Given the description of an element on the screen output the (x, y) to click on. 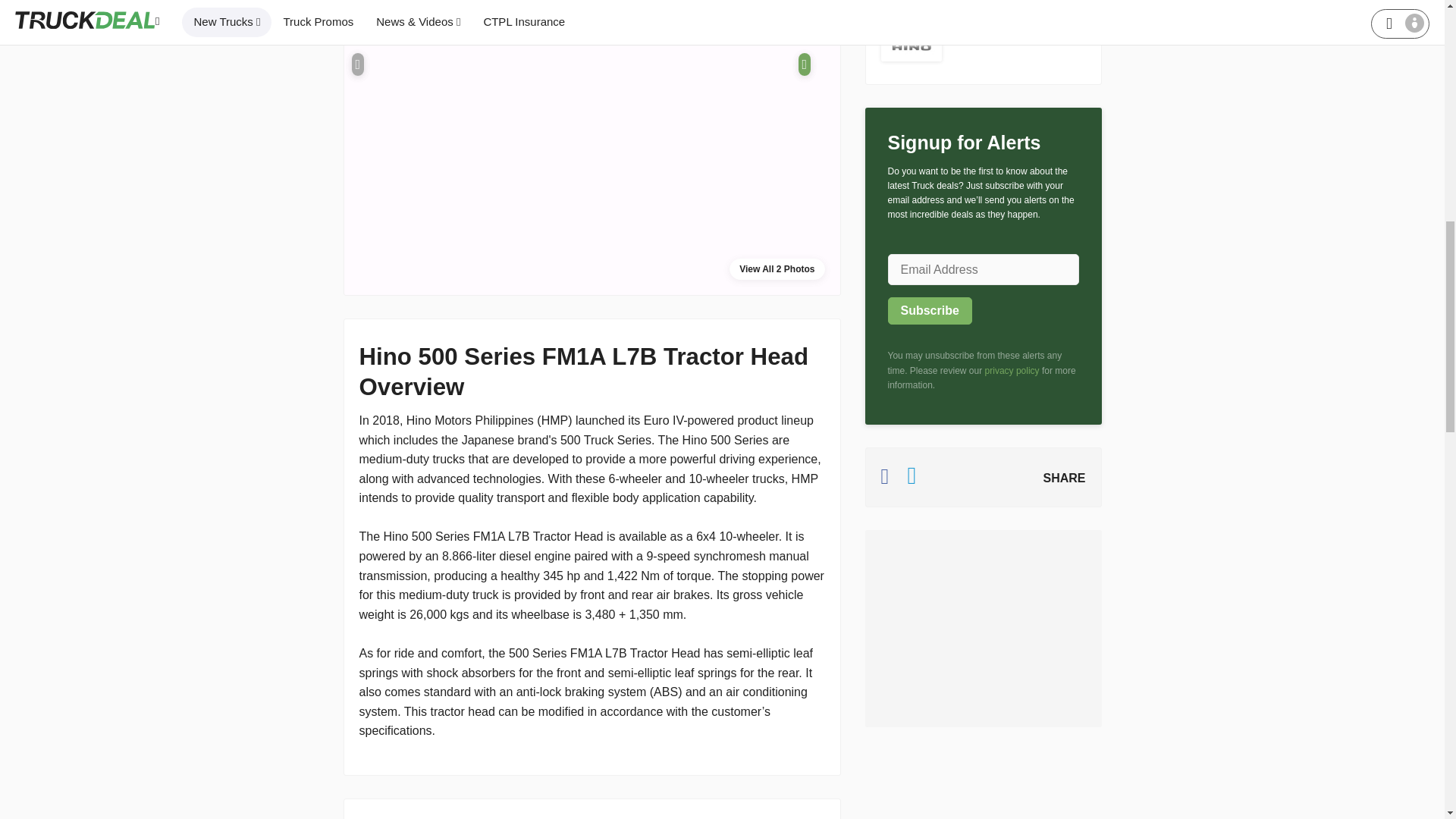
View All 2 Photos (776, 269)
